Given the description of an element on the screen output the (x, y) to click on. 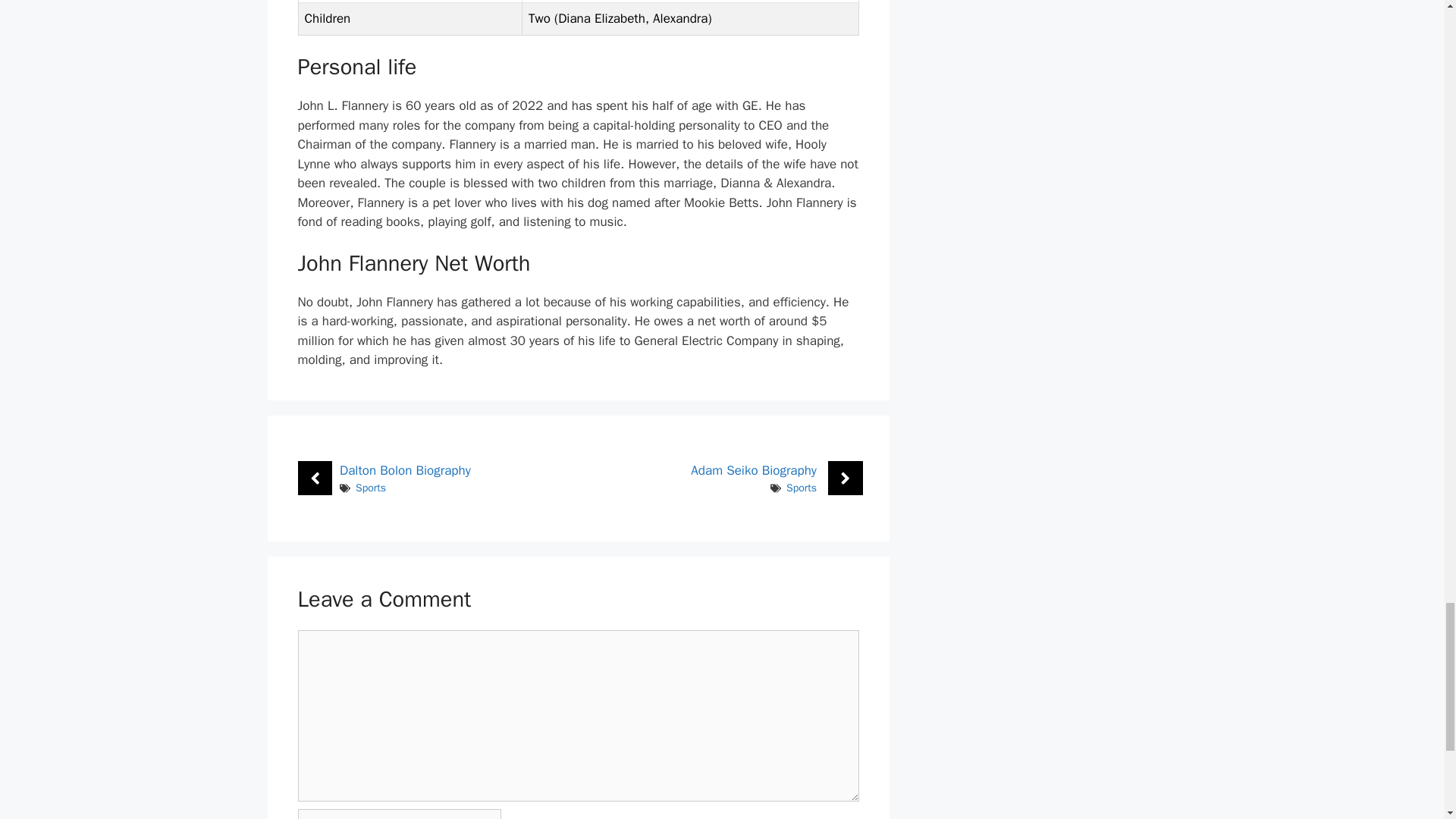
Sports (801, 487)
Adam Seiko Biography (753, 470)
Dalton Bolon Biography (404, 470)
Sports (370, 487)
